Given the description of an element on the screen output the (x, y) to click on. 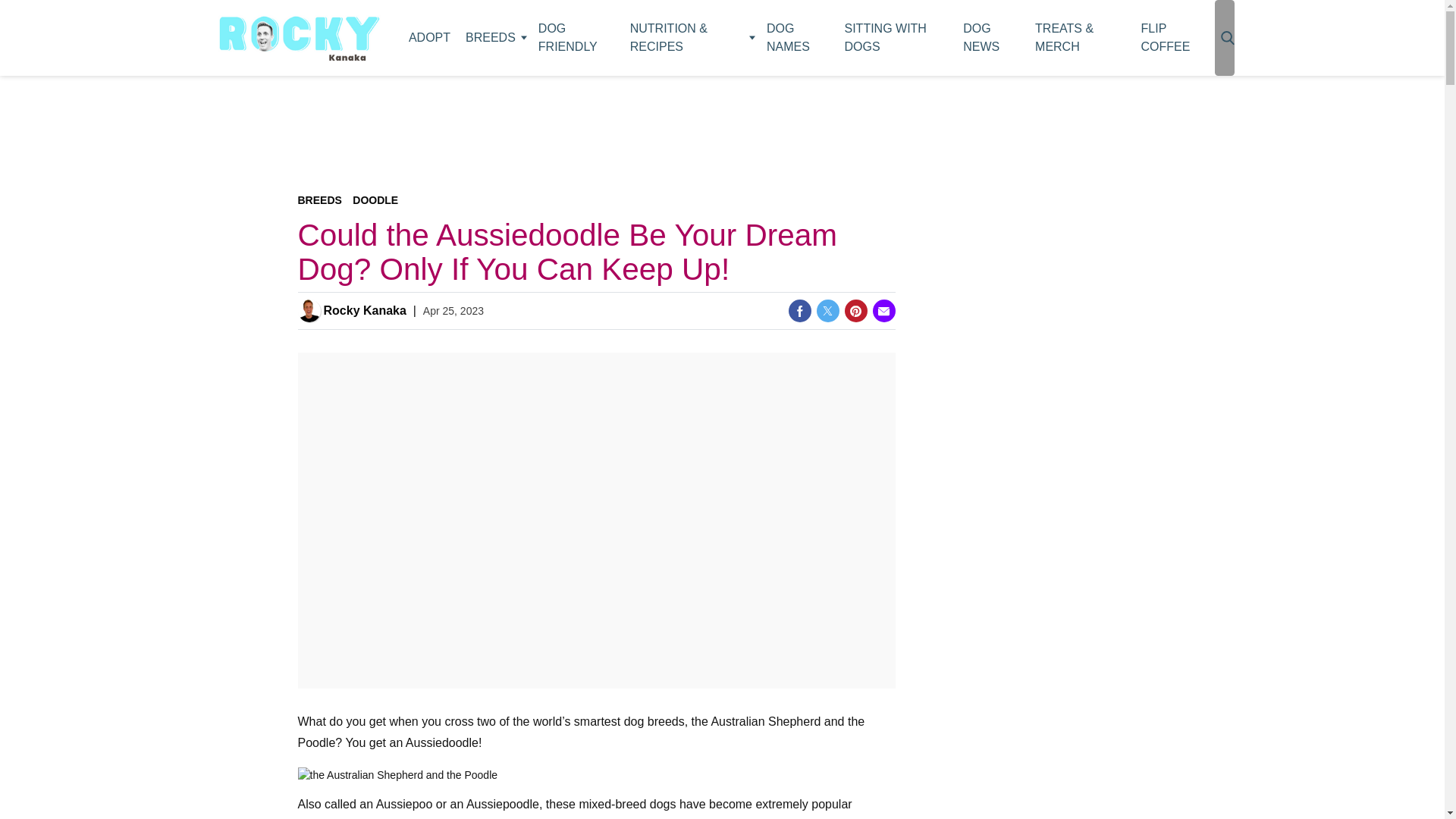
ADOPT (429, 37)
BREEDS (494, 37)
Posts by Rocky Kanaka (364, 310)
